Given the description of an element on the screen output the (x, y) to click on. 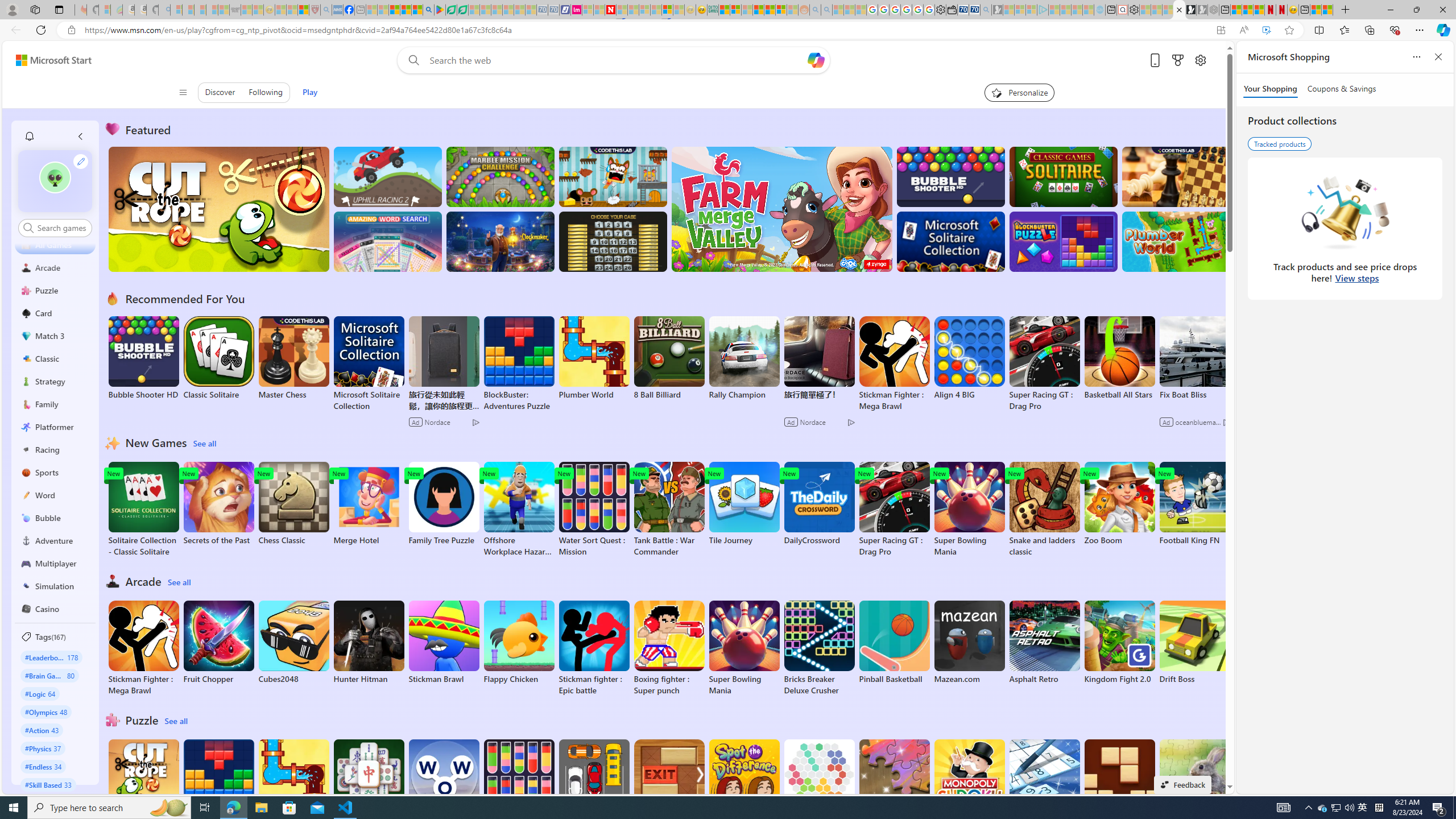
See all (176, 720)
Microsoft Solitaire Collection (368, 363)
Flappy Chicken (518, 642)
#Physics 37 (42, 748)
